Given the description of an element on the screen output the (x, y) to click on. 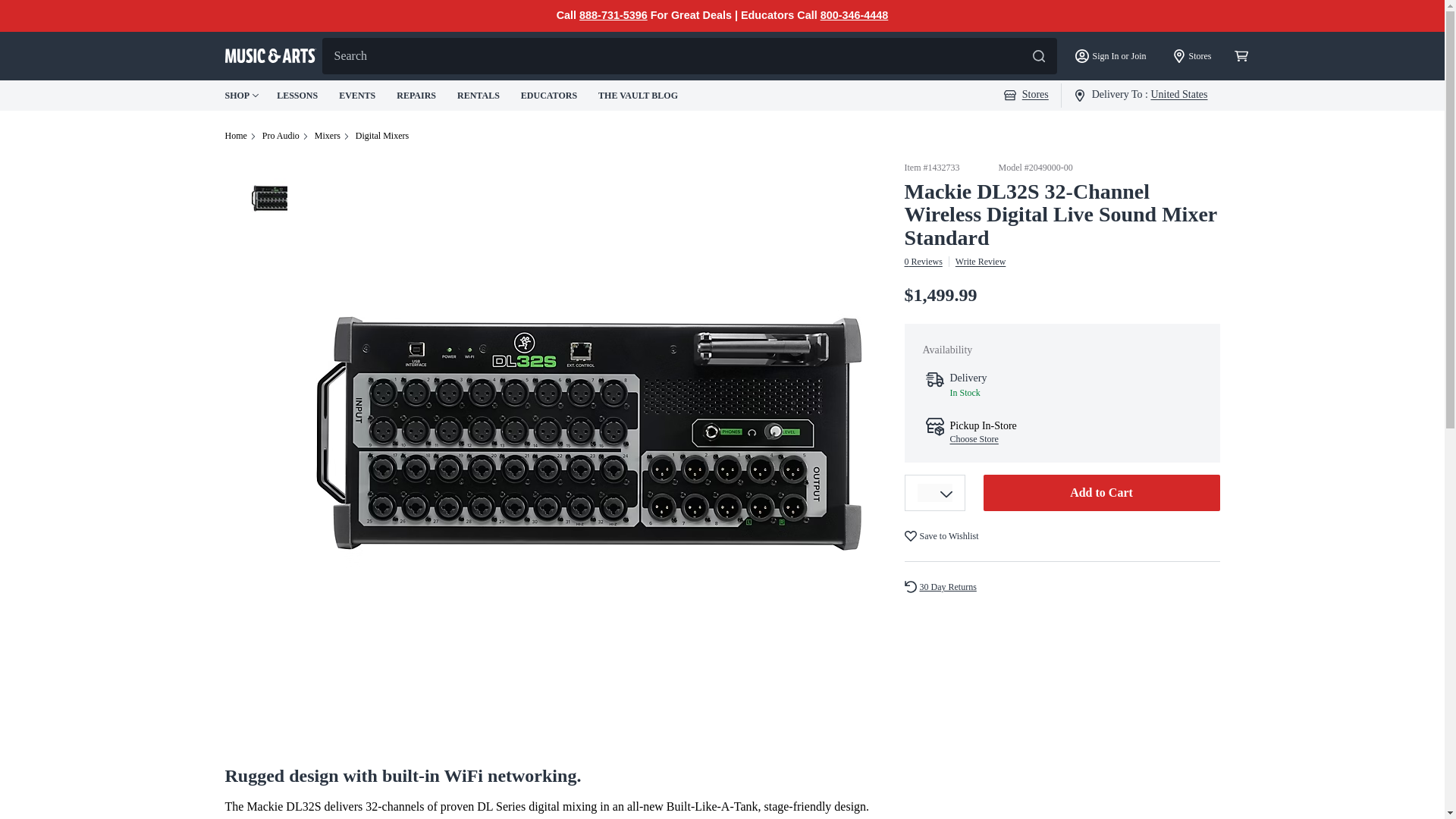
Add to Cart (1101, 493)
Pro Audio (280, 135)
0 Reviews (923, 261)
Home (235, 135)
THE VAULT BLOG (639, 94)
30 Day Returns (946, 586)
800-346-4448 (854, 15)
REPAIRS (417, 94)
RENTALS (479, 94)
SHOP (241, 95)
EDUCATORS (550, 94)
Stores (1026, 94)
Digital Mixers (382, 135)
Mixers (327, 135)
888-731-5396 (613, 15)
